Given the description of an element on the screen output the (x, y) to click on. 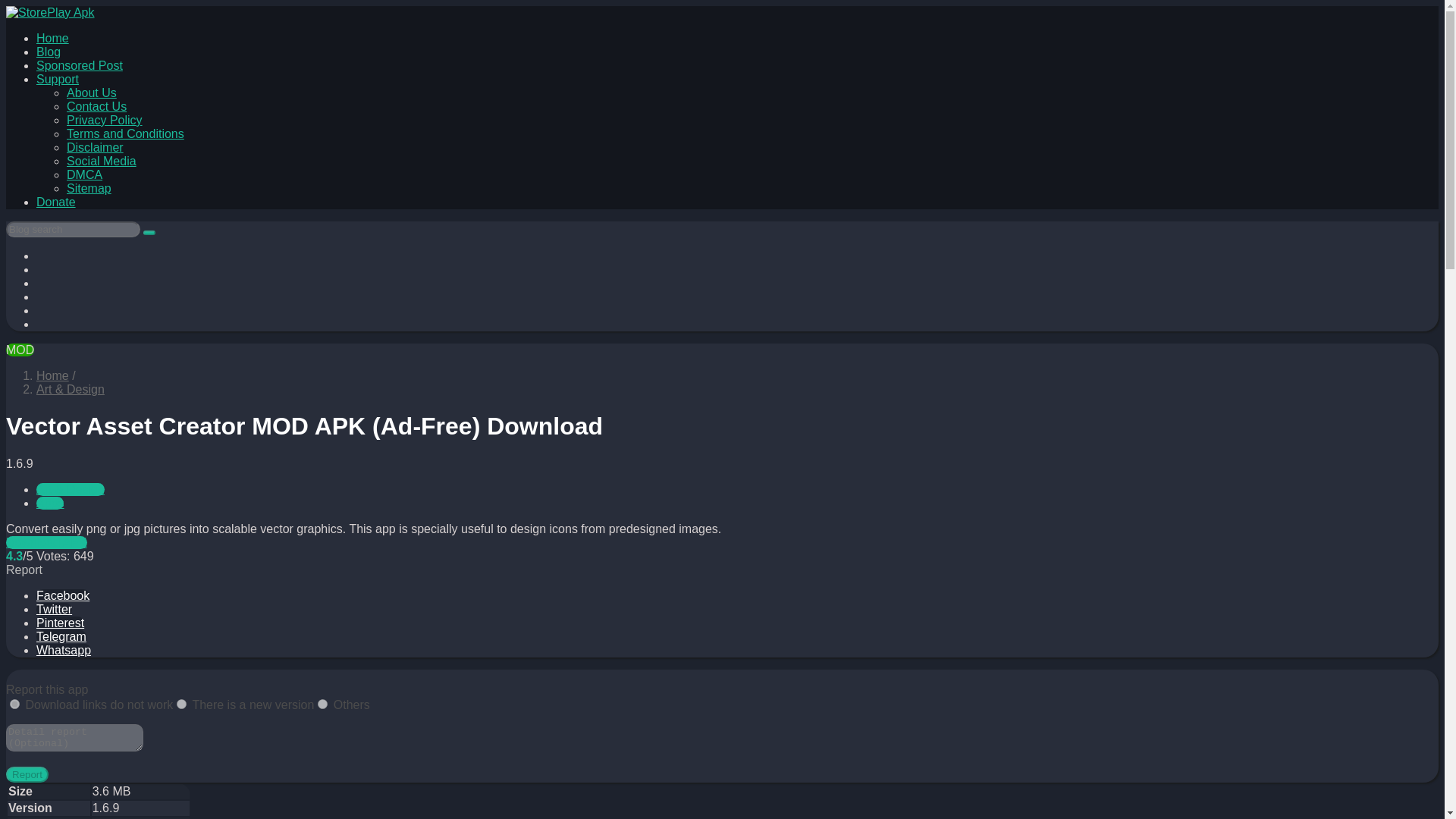
Report (26, 774)
Support (57, 78)
Blog search (148, 232)
StorePlay Apk (52, 375)
Social Media (101, 160)
Sitemap (89, 187)
Sponsored Post (79, 65)
3 (322, 704)
1 (15, 704)
DMCA (83, 174)
Disclaimer (94, 146)
Terms and Conditions (125, 133)
Donate (55, 201)
Privacy Policy (104, 119)
Contact Us (96, 106)
